Given the description of an element on the screen output the (x, y) to click on. 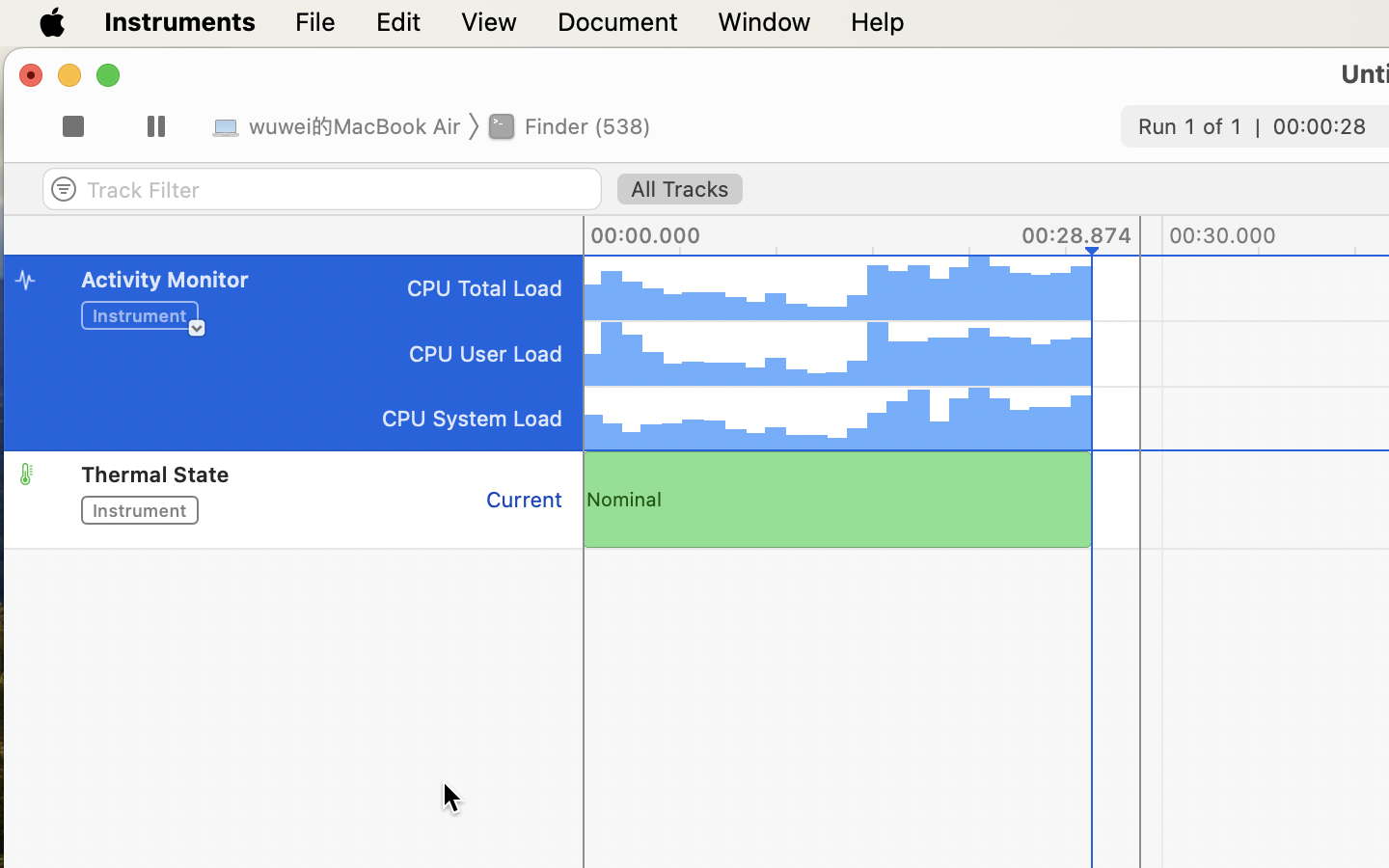
2 Element type: AXButton (73, 132)
